Given the description of an element on the screen output the (x, y) to click on. 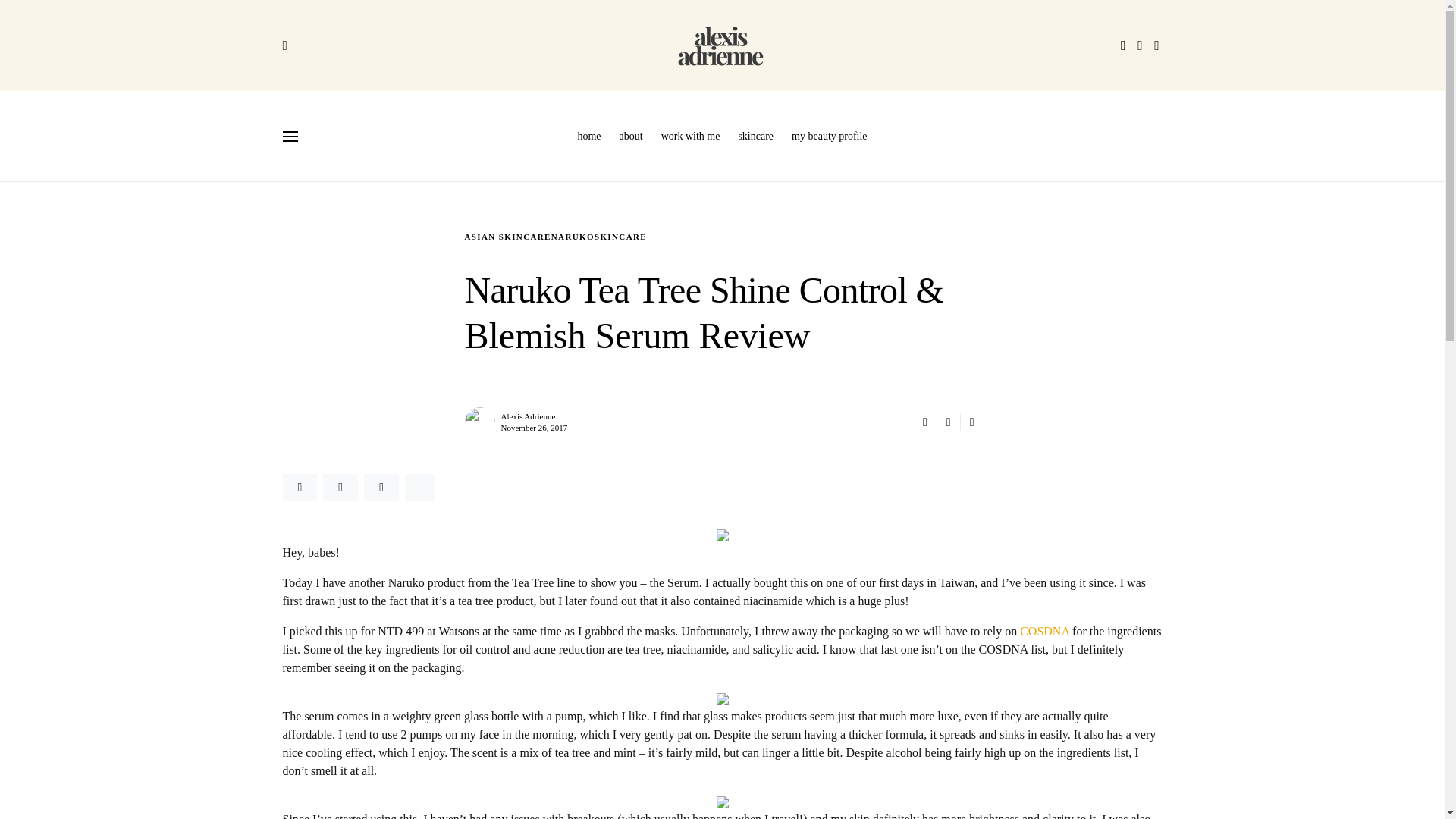
Alexis Adrienne (527, 415)
COSDNA (1044, 631)
NARUKO (572, 235)
my beauty profile (825, 135)
ASIAN SKINCARE (507, 235)
SKINCARE (620, 235)
